Given the description of an element on the screen output the (x, y) to click on. 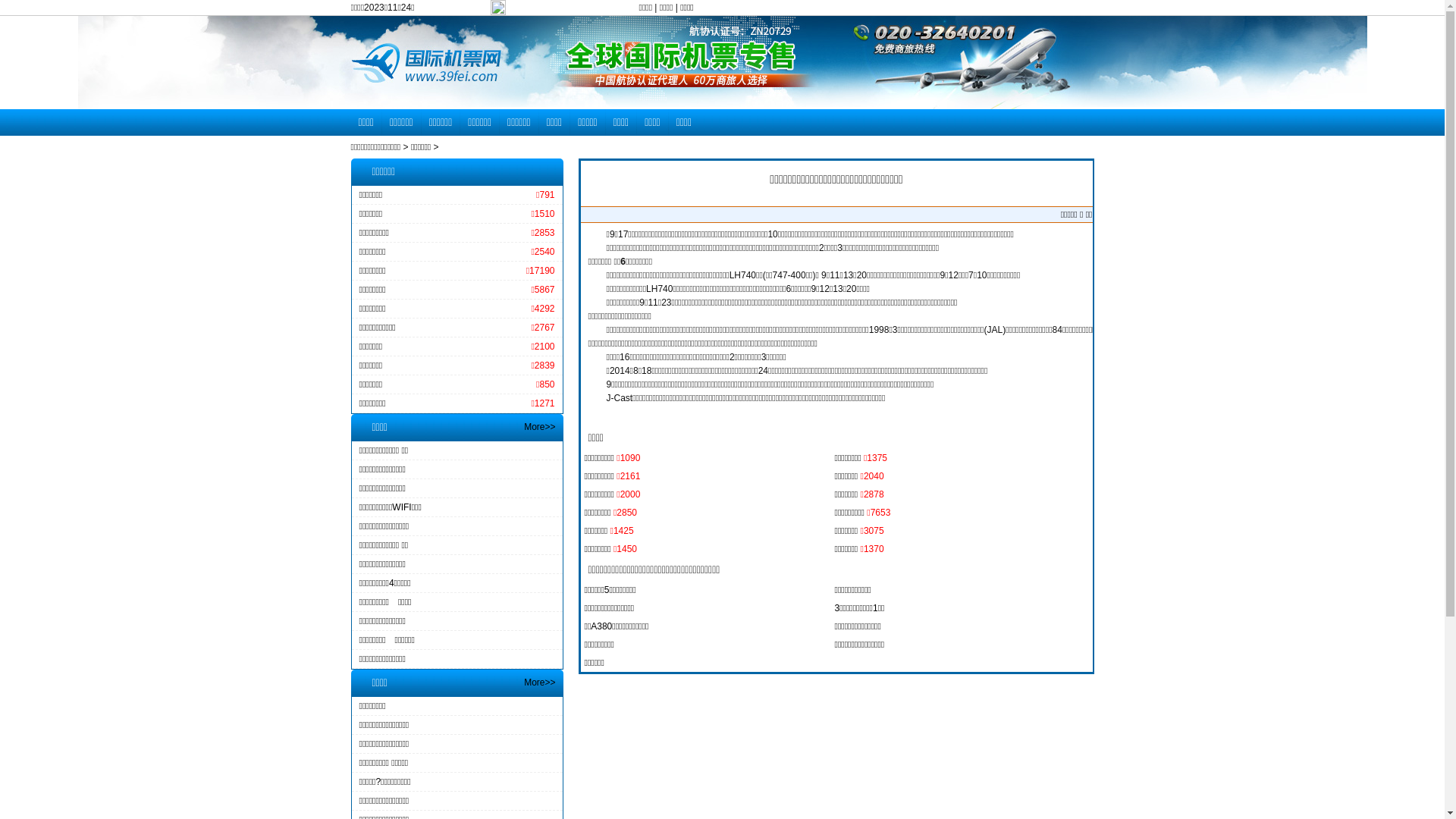
More>> Element type: text (539, 682)
More>> Element type: text (539, 426)
